Given the description of an element on the screen output the (x, y) to click on. 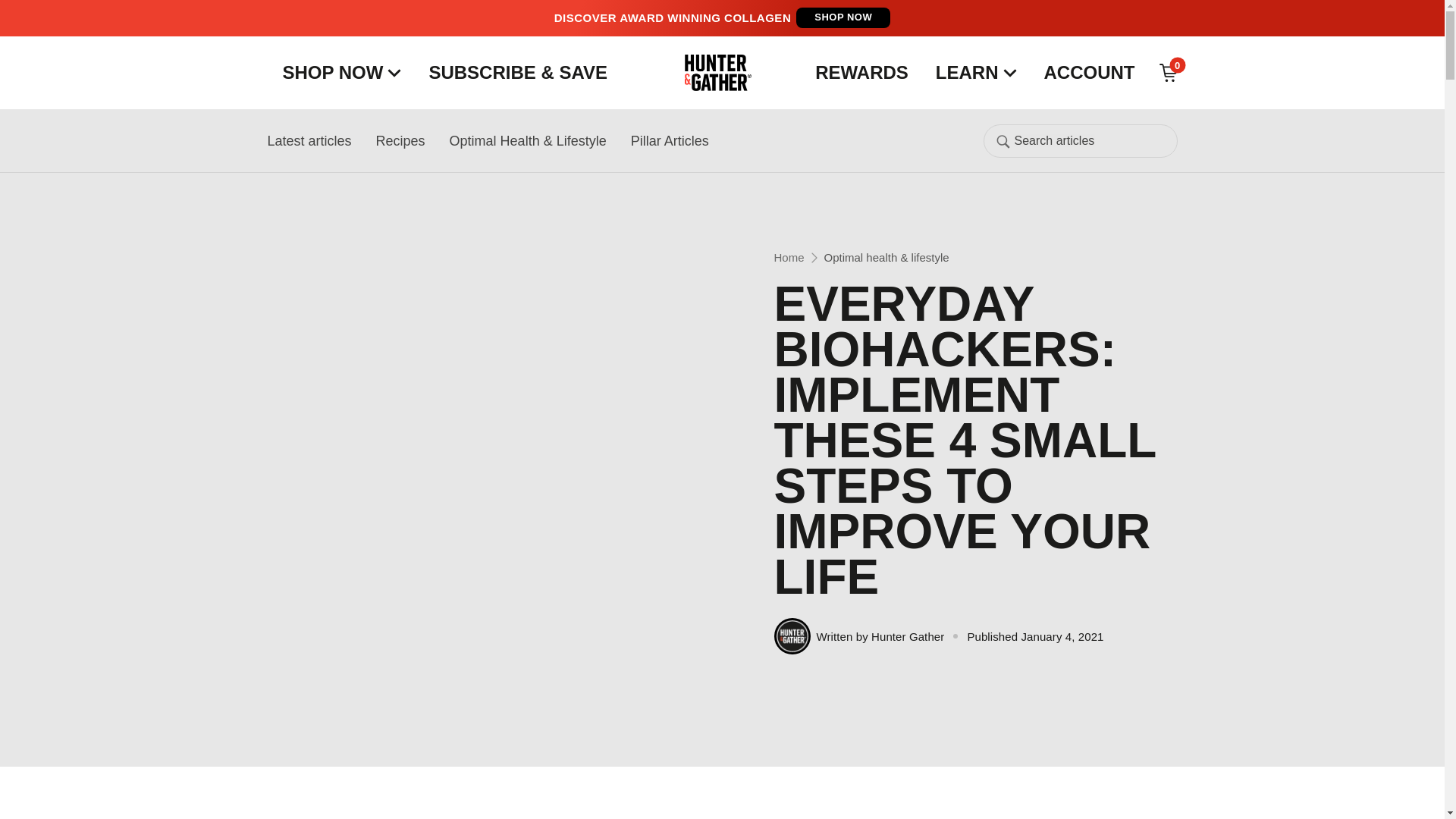
REWARDS (867, 72)
LEARN (976, 72)
Latest articles (308, 140)
SHOP NOW (341, 72)
Pillar Articles (669, 140)
SHOP NOW (842, 17)
ACCOUNT (1088, 72)
Recipes (400, 140)
